Given the description of an element on the screen output the (x, y) to click on. 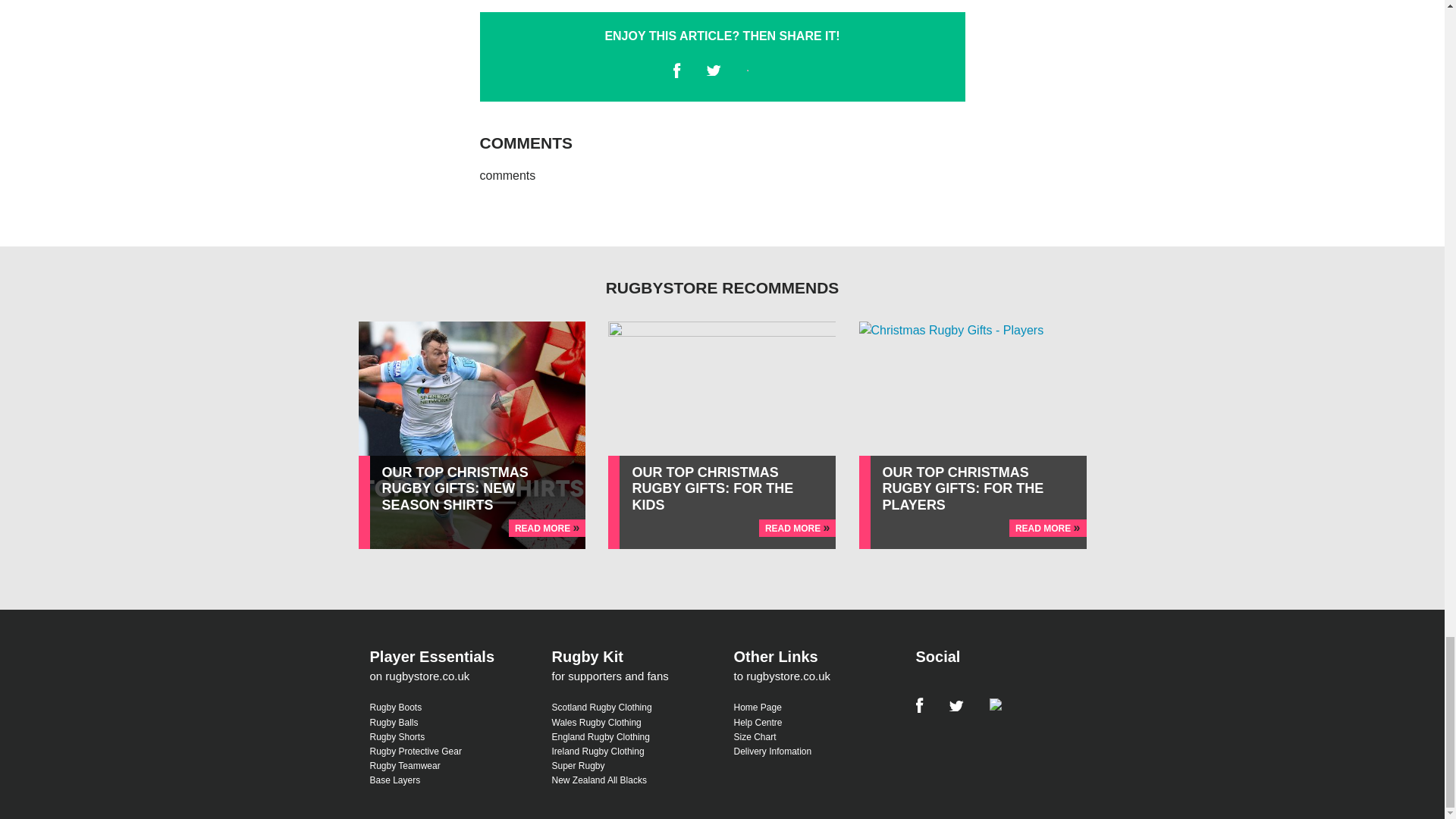
OUR TOP CHRISTMAS RUGBY GIFTS: NEW SEASON SHIRTS (454, 488)
